Given the description of an element on the screen output the (x, y) to click on. 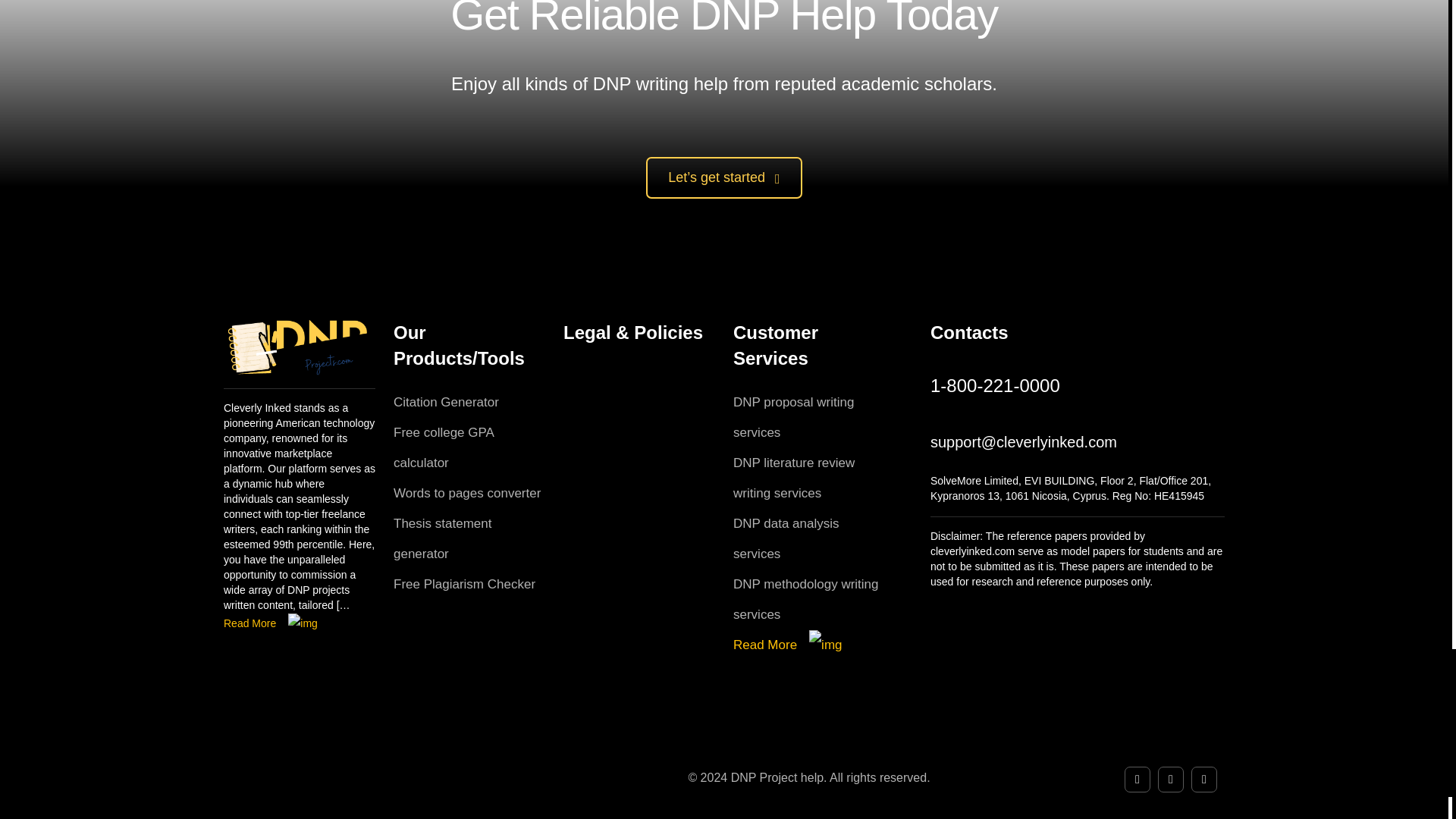
DNP Project help (299, 347)
